Given the description of an element on the screen output the (x, y) to click on. 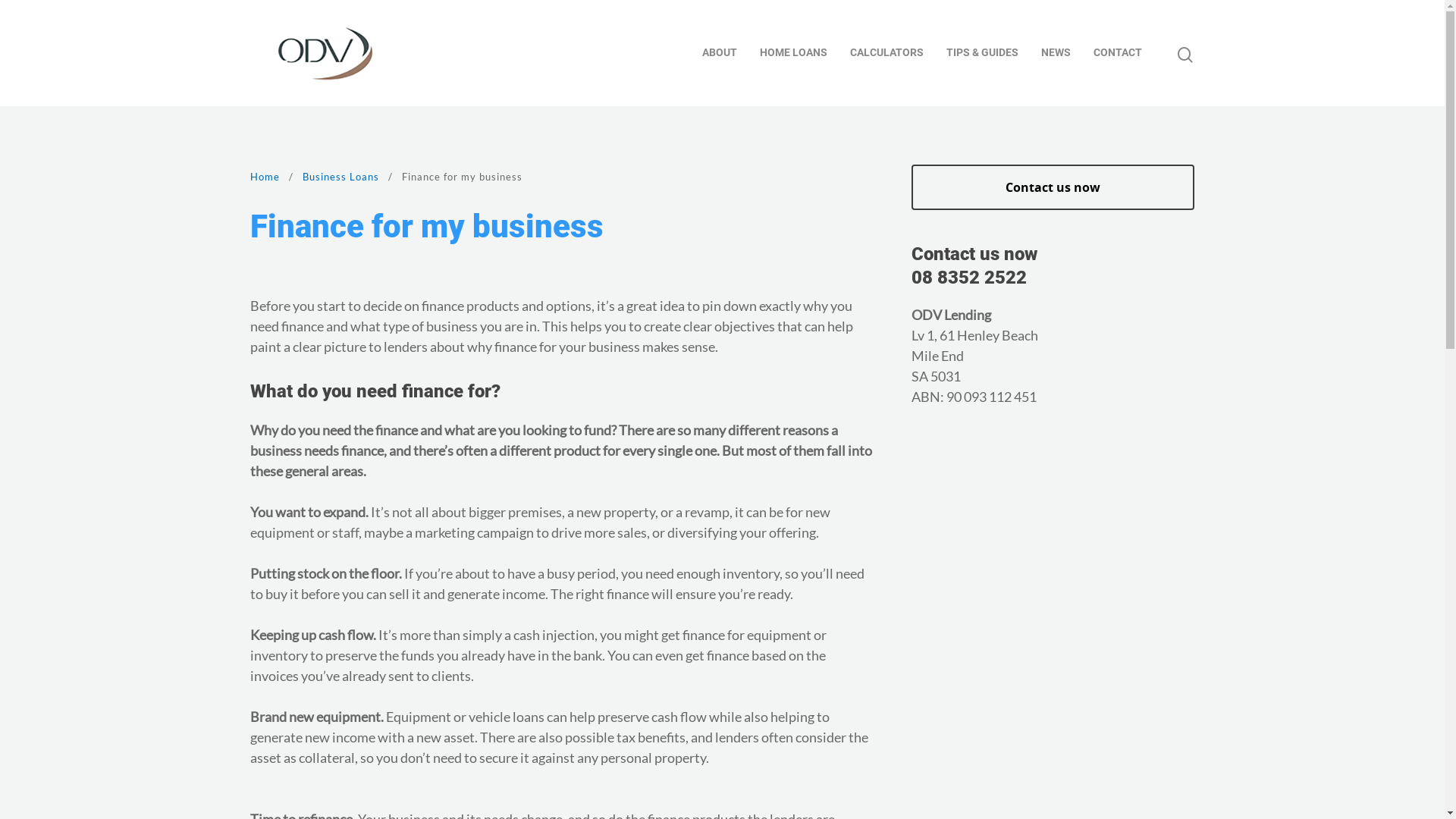
HOME LOANS Element type: text (793, 52)
Home Element type: text (264, 176)
TIPS & GUIDES Element type: text (982, 52)
CALCULATORS Element type: text (886, 52)
Contact us now Element type: text (1052, 187)
08 8352 2522 Element type: text (968, 277)
NEWS Element type: text (1055, 52)
ABOUT Element type: text (719, 52)
Business Loans Element type: text (340, 176)
CONTACT Element type: text (1117, 52)
